Given the description of an element on the screen output the (x, y) to click on. 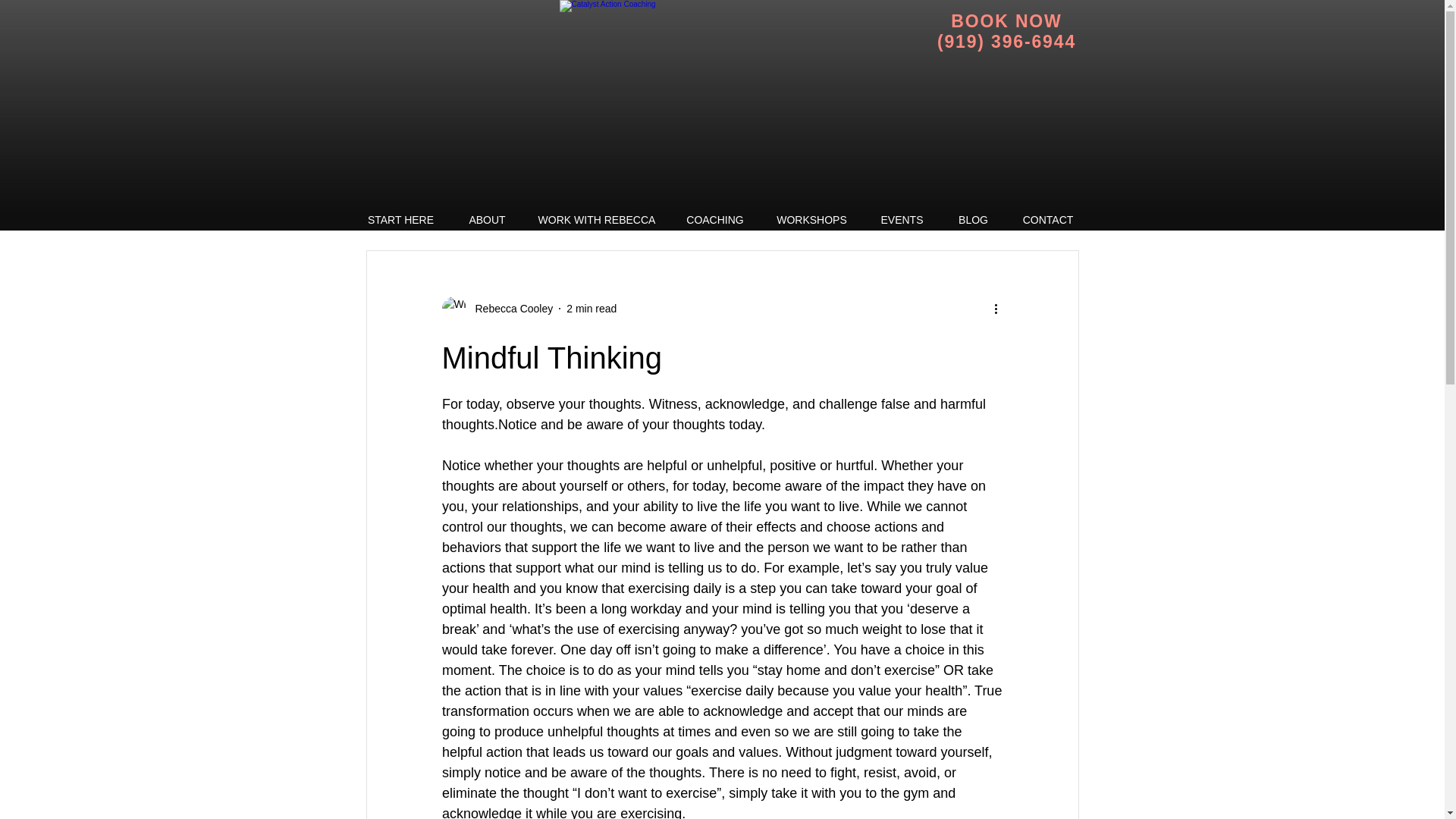
ABOUT (485, 219)
START HERE (399, 219)
BLOG (973, 219)
Catalyst Action Coaching (743, 104)
COACHING (714, 219)
WORK WITH REBECCA (595, 219)
BOOK NOW (1005, 21)
2 min read (590, 307)
CONTACT (1047, 219)
EVENTS (901, 219)
Rebecca Cooley (497, 308)
WORKSHOPS (811, 219)
Rebecca Cooley (509, 308)
